Given the description of an element on the screen output the (x, y) to click on. 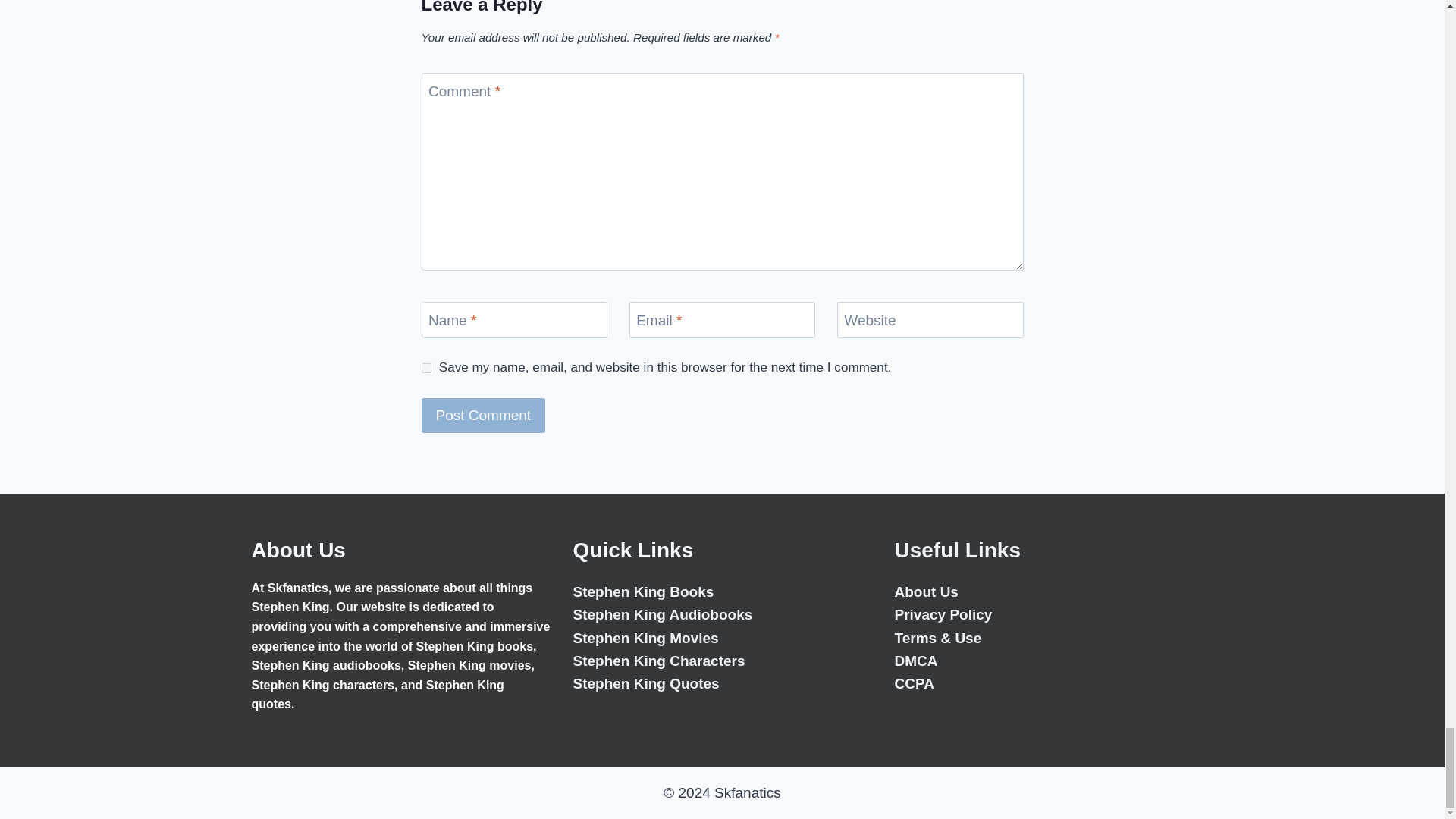
yes (426, 368)
Post Comment (484, 415)
